Given the description of an element on the screen output the (x, y) to click on. 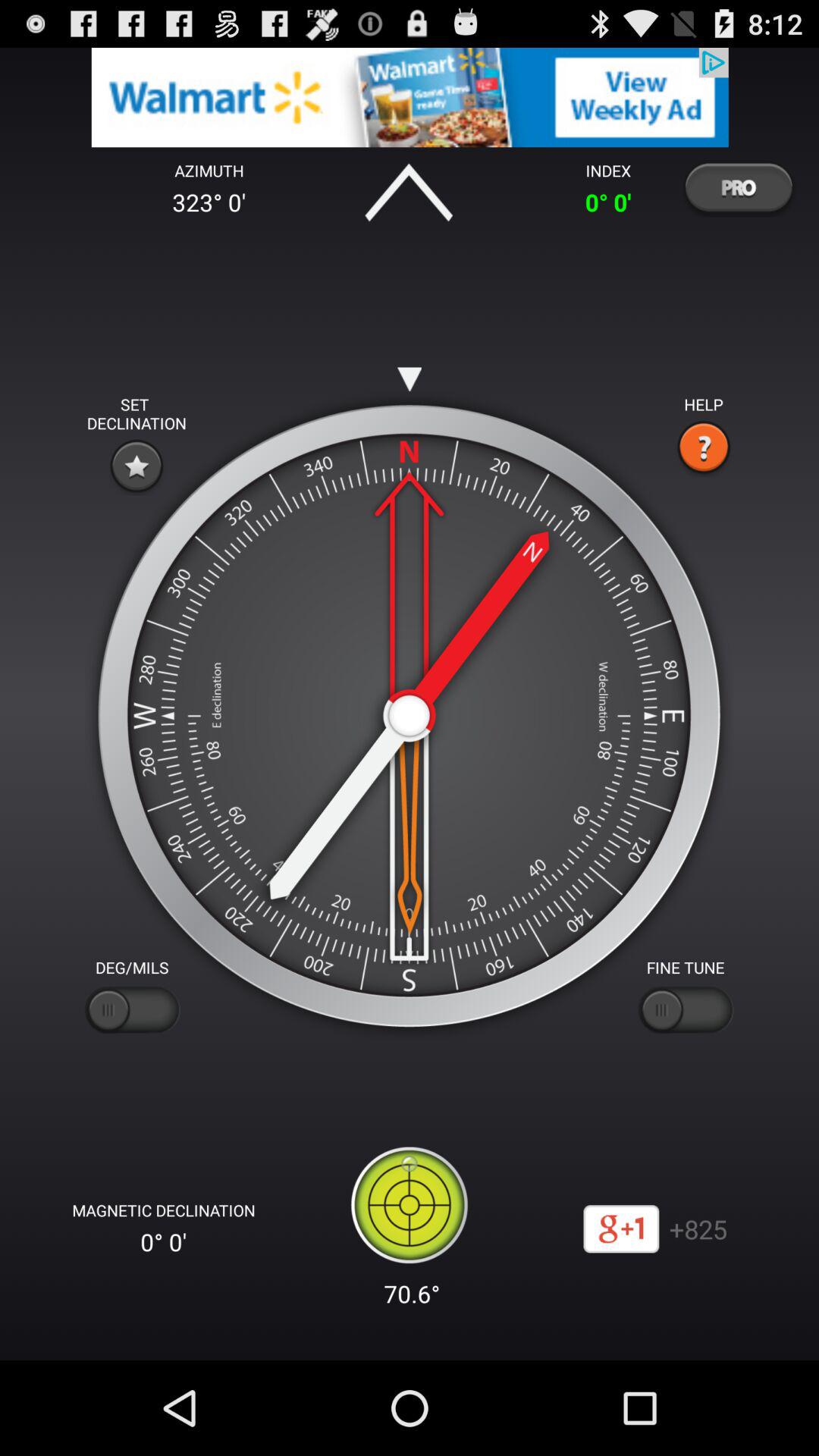
fine tune botton (685, 1010)
